Given the description of an element on the screen output the (x, y) to click on. 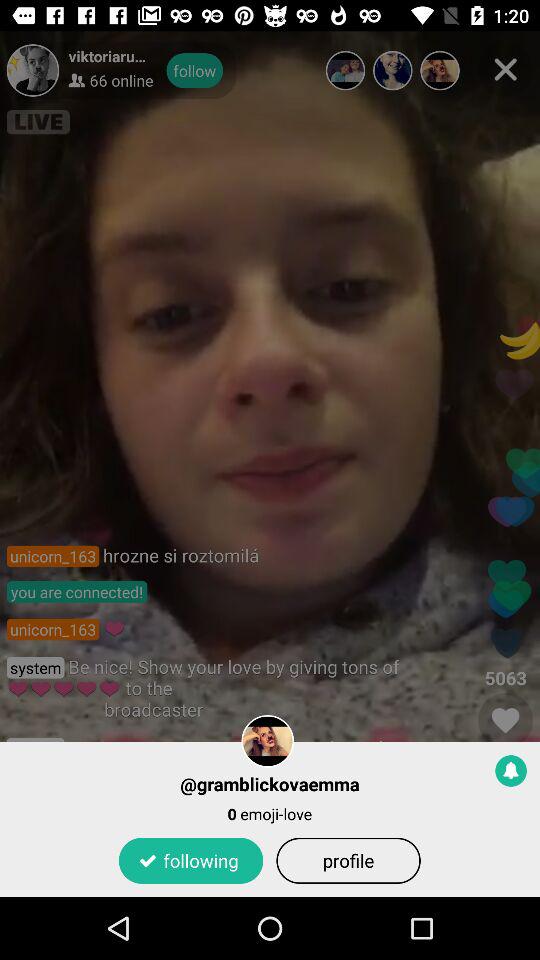
select notifications (511, 770)
